Given the description of an element on the screen output the (x, y) to click on. 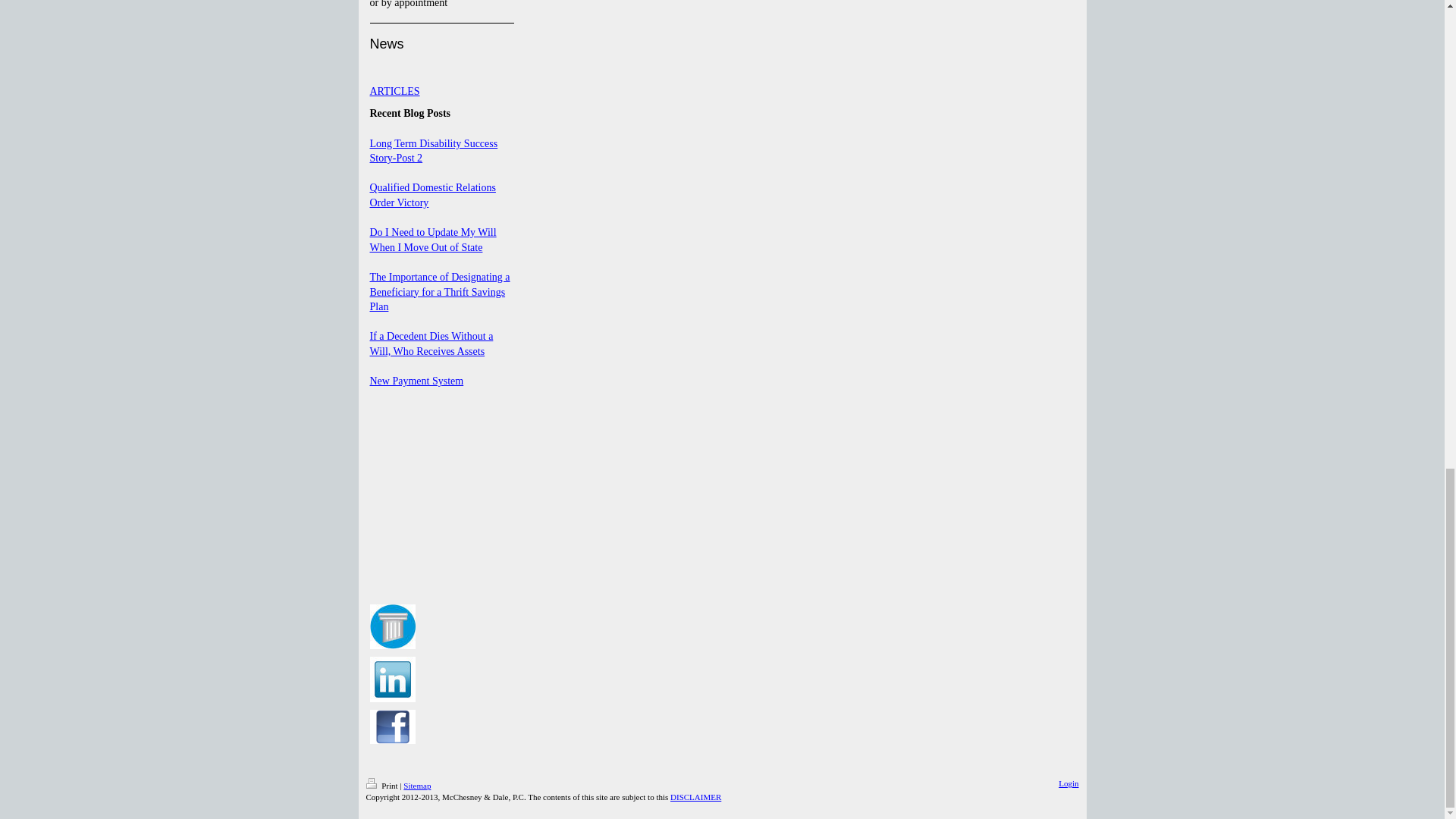
ARTICLES (394, 91)
Do I Need to Update My Will When I Move Out of State (432, 239)
Long Term Disability Success Story-Post 2 (433, 151)
Qualified Domestic Relations Order Victory (432, 194)
New Payment System (416, 380)
If a Decedent Dies Without a Will, Who Receives Assets (431, 343)
